Given the description of an element on the screen output the (x, y) to click on. 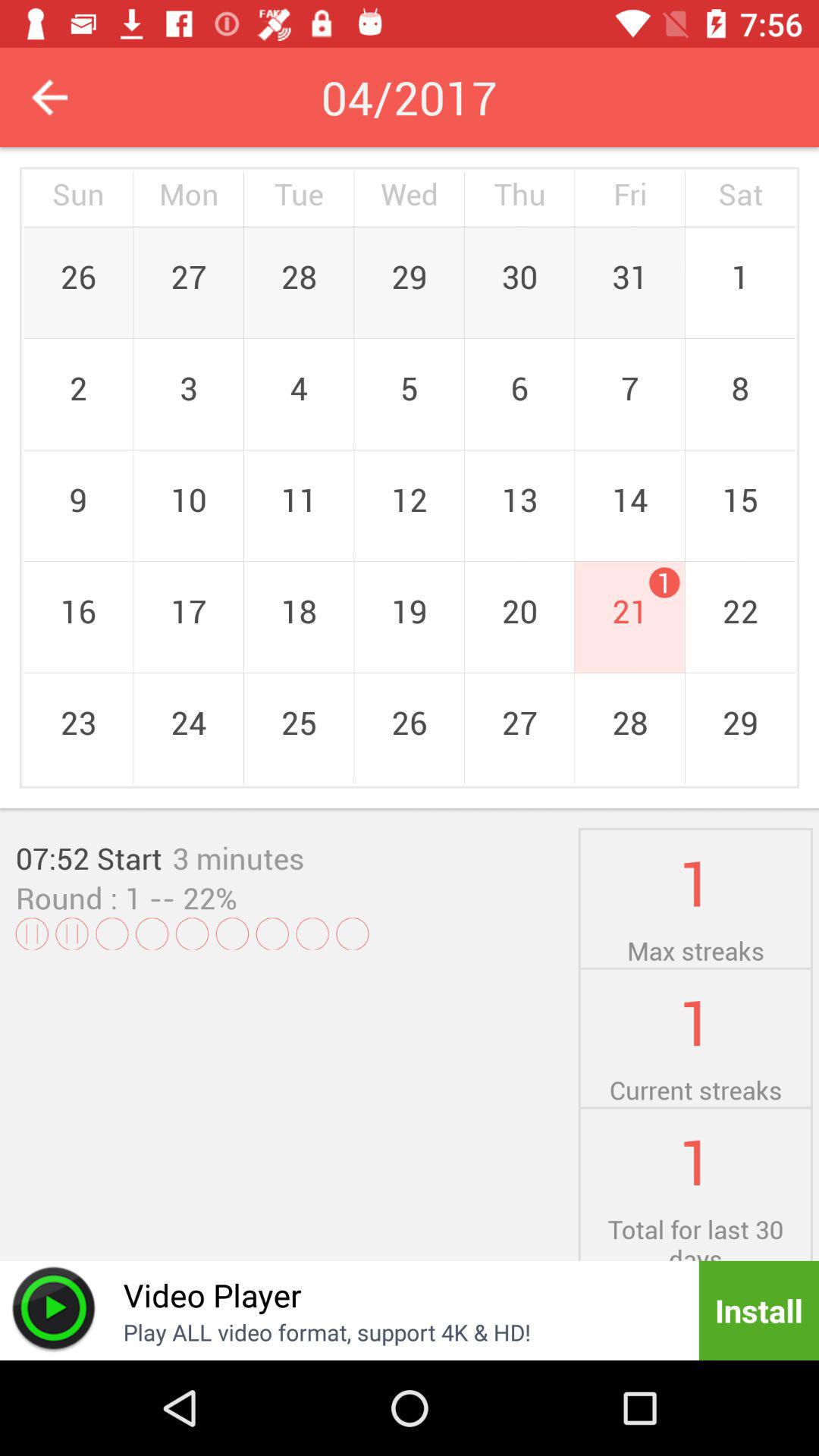
choose the icon above the  -- 22% icon (238, 858)
